Given the description of an element on the screen output the (x, y) to click on. 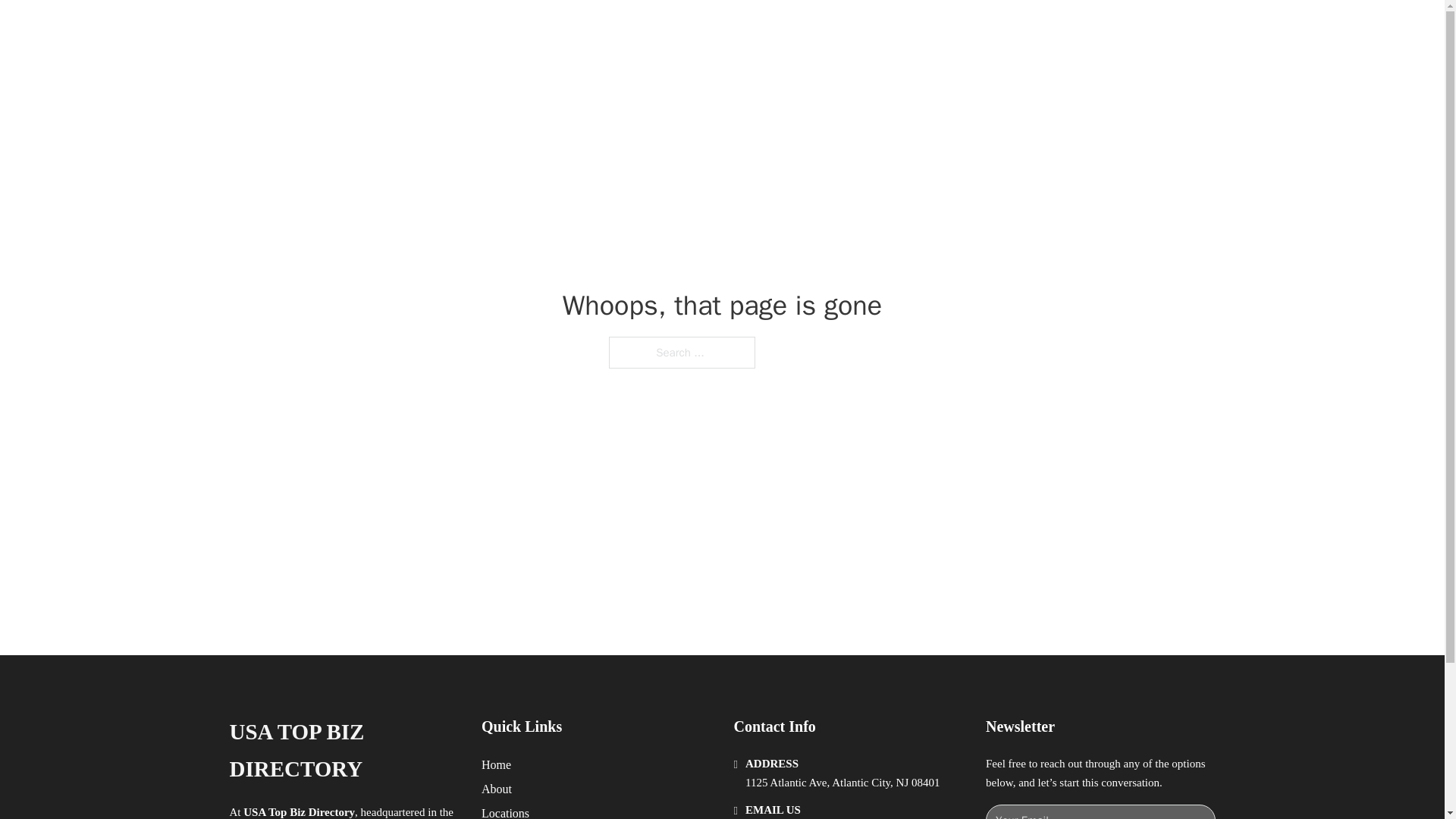
HOME (919, 29)
USA TOP BIZ DIRECTORY (343, 750)
LOCATIONS (990, 29)
Locations (505, 811)
About (496, 788)
USA TOP BIZ DIRECTORY (431, 28)
Home (496, 764)
